Given the description of an element on the screen output the (x, y) to click on. 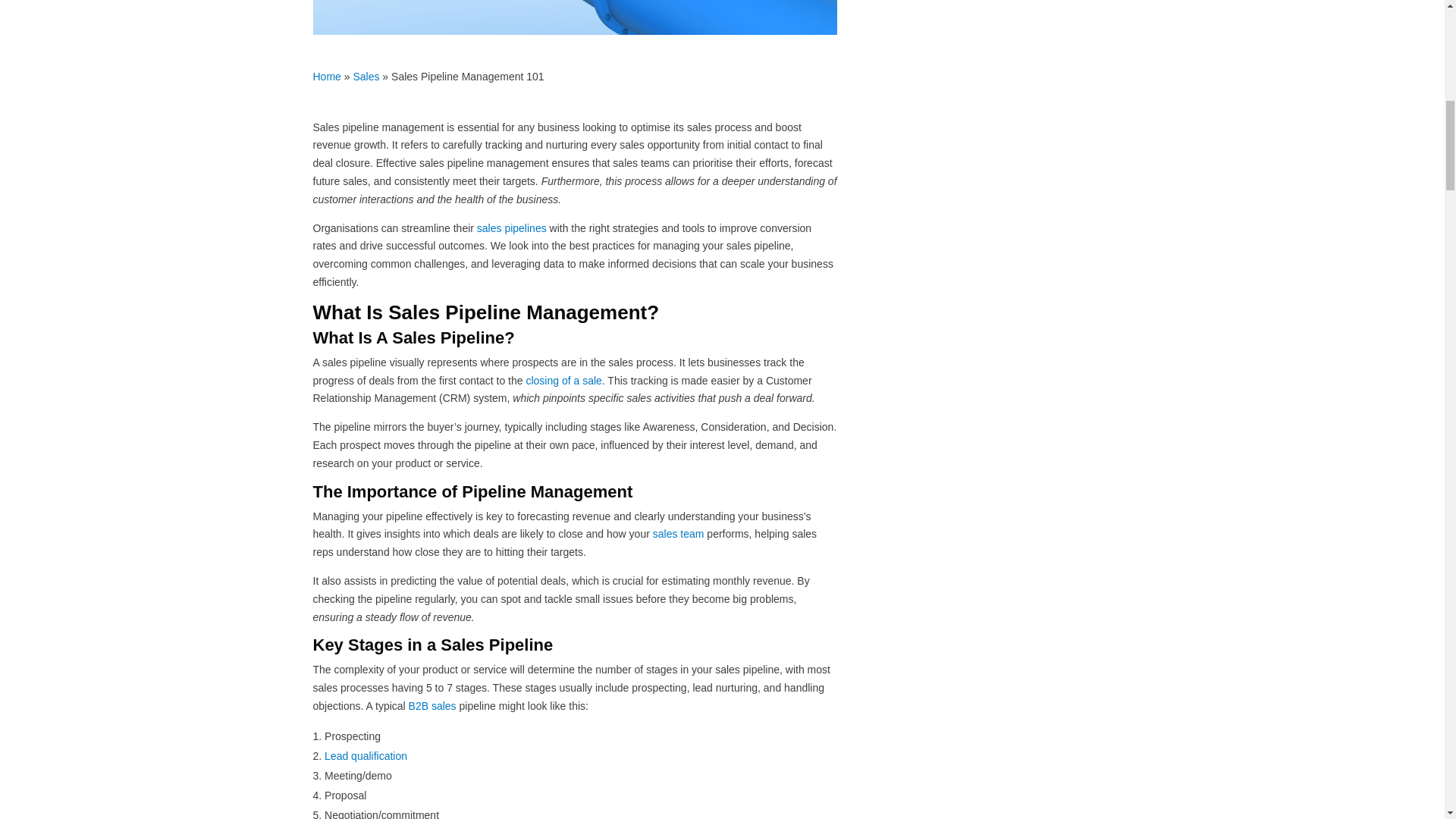
Sales (365, 76)
Home (326, 76)
closing of a sale (563, 380)
sales pipelines (512, 227)
sales team (678, 533)
B2B sales (433, 705)
Lead qualification (365, 756)
